Given the description of an element on the screen output the (x, y) to click on. 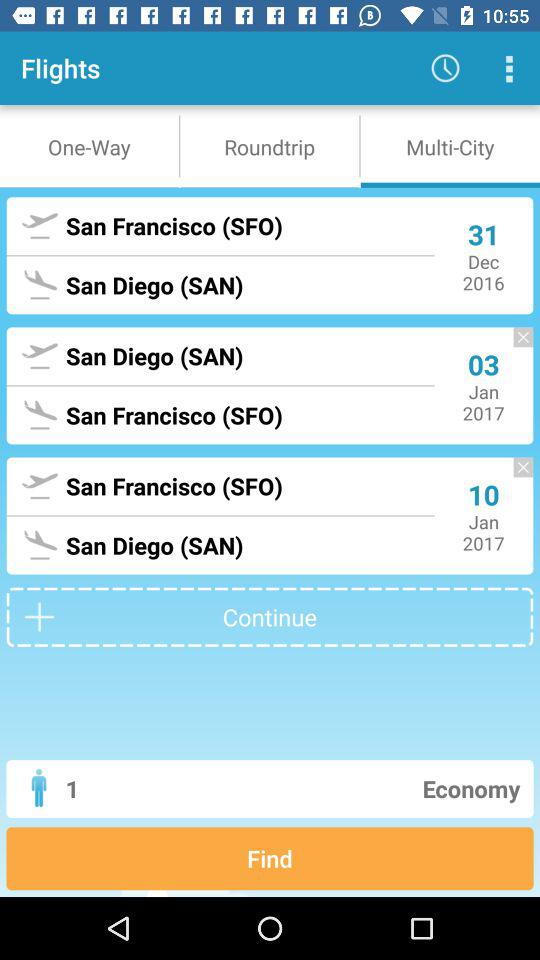
tap find (269, 858)
